Given the description of an element on the screen output the (x, y) to click on. 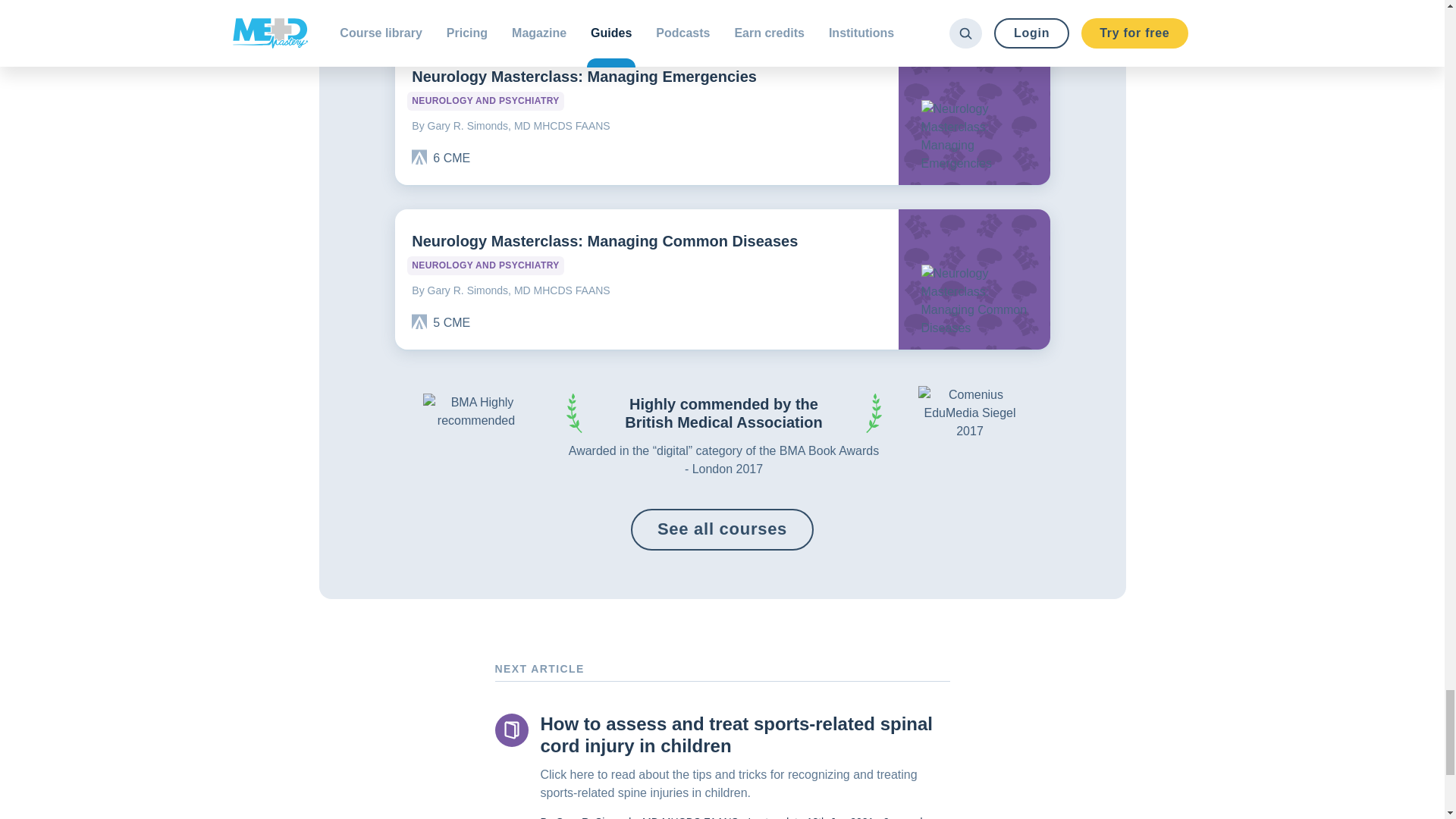
See all courses (721, 529)
speciality (485, 100)
speciality (485, 265)
Gary R. Simonds, MD MHCDS FAANS (646, 287)
Gary R. Simonds, MD MHCDS FAANS (646, 122)
